Given the description of an element on the screen output the (x, y) to click on. 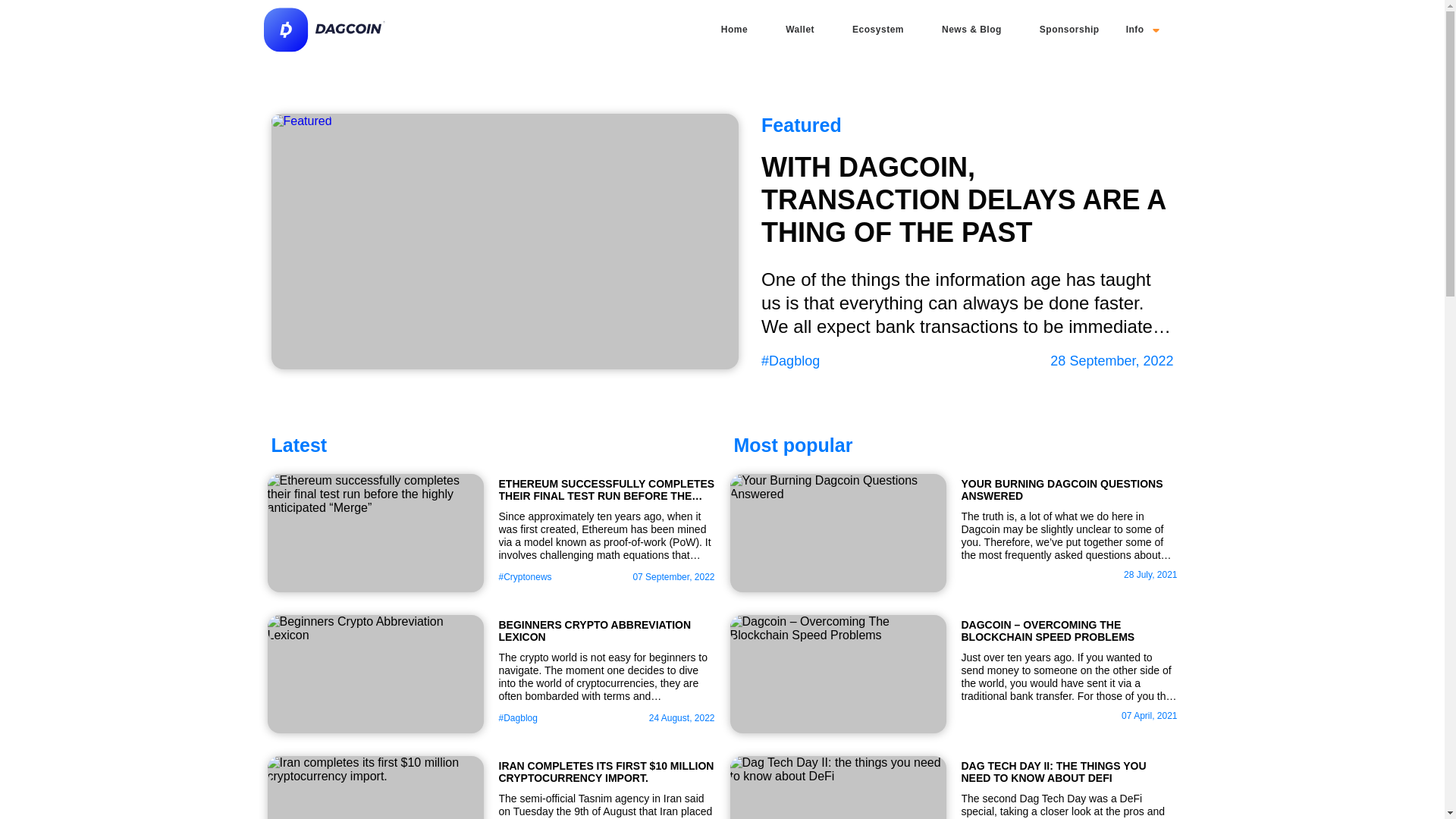
Wallet (799, 29)
LogoCreated with Sketch. (324, 29)
Ecosystem (877, 29)
Info  (1142, 29)
Sponsorship (1069, 29)
LogoCreated with Sketch. (324, 50)
Home (734, 29)
